Given the description of an element on the screen output the (x, y) to click on. 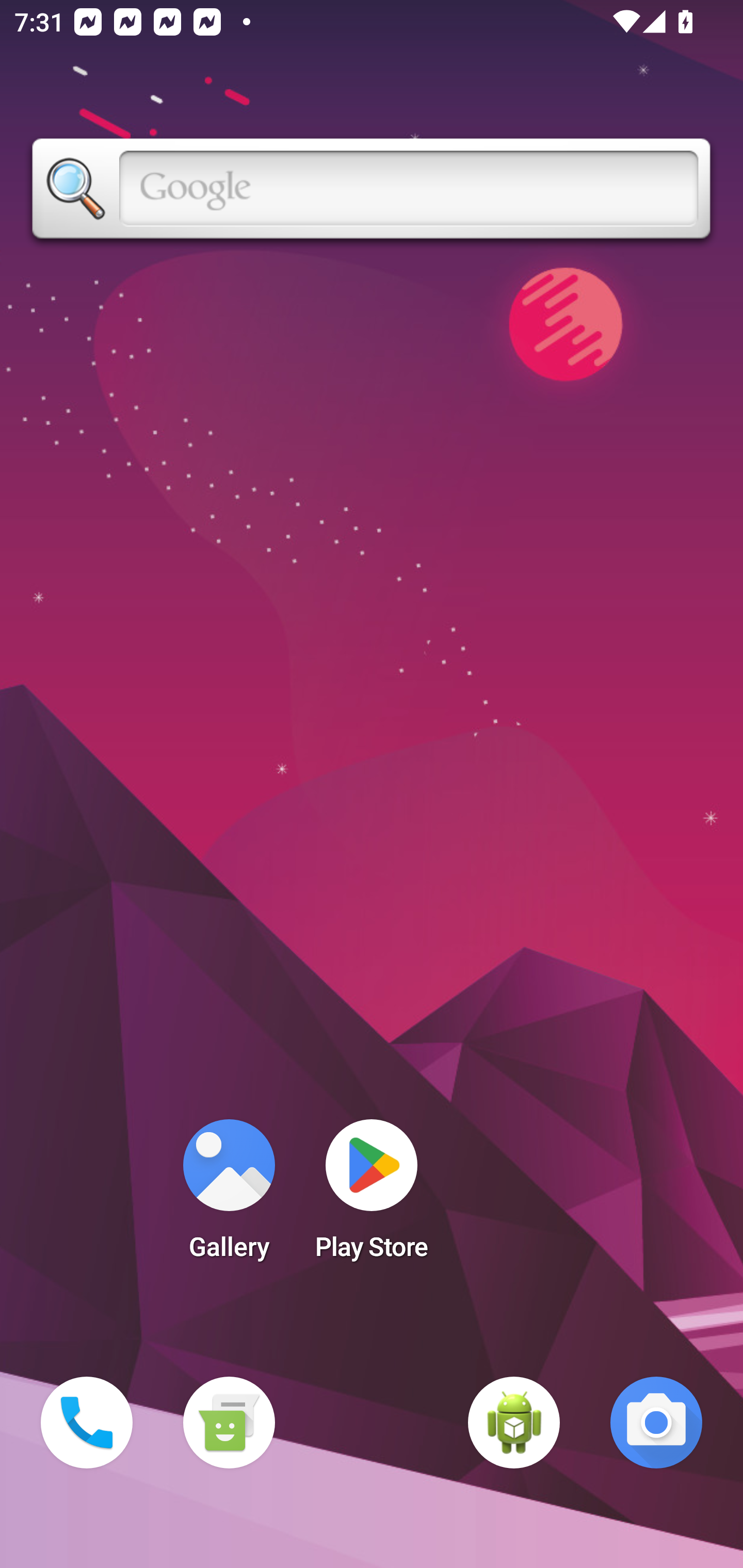
Gallery (228, 1195)
Play Store (371, 1195)
Phone (86, 1422)
Messaging (228, 1422)
WebView Browser Tester (513, 1422)
Camera (656, 1422)
